Given the description of an element on the screen output the (x, y) to click on. 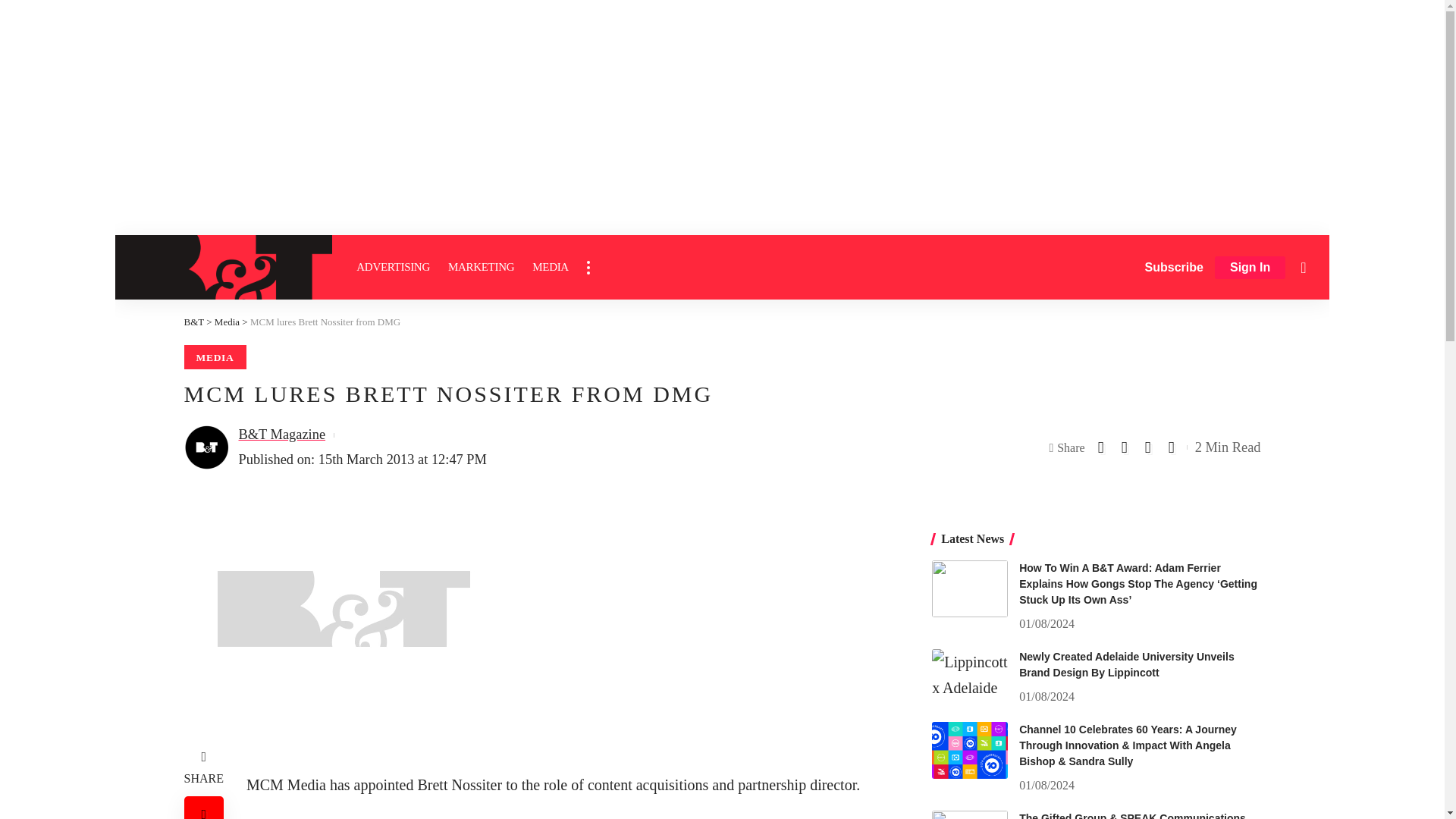
ADVERTISING (393, 267)
Go to the Media Category archives. (227, 321)
Sign In (1249, 267)
Subscribe (1174, 267)
MARKETING (480, 267)
